Given the description of an element on the screen output the (x, y) to click on. 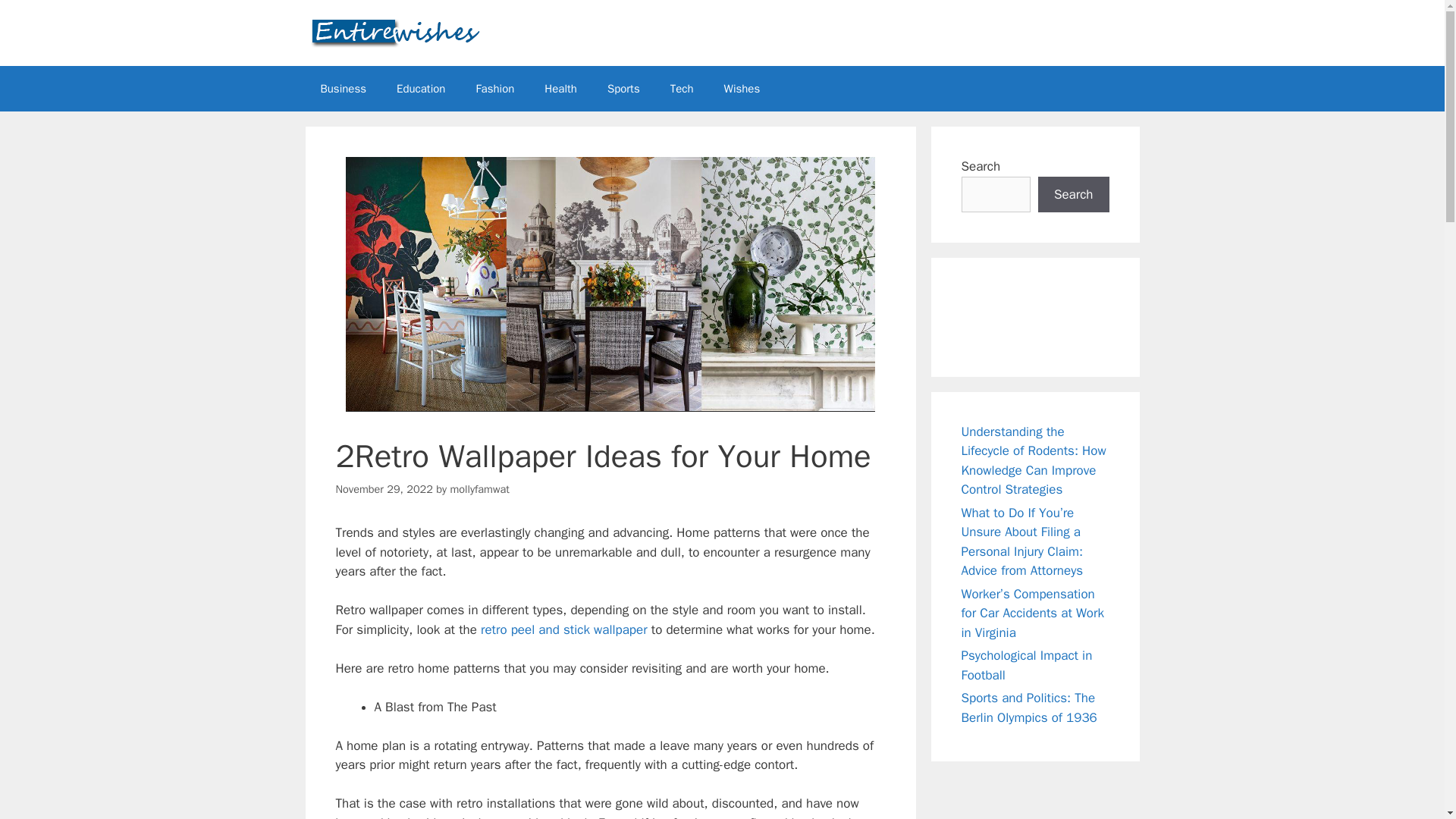
Psychological Impact in Football (1026, 665)
Education (420, 88)
Business (342, 88)
retro peel and stick wallpaper (563, 629)
Sports (623, 88)
mollyfamwat (478, 489)
Wishes (742, 88)
Health (560, 88)
Search (1073, 194)
